Given the description of an element on the screen output the (x, y) to click on. 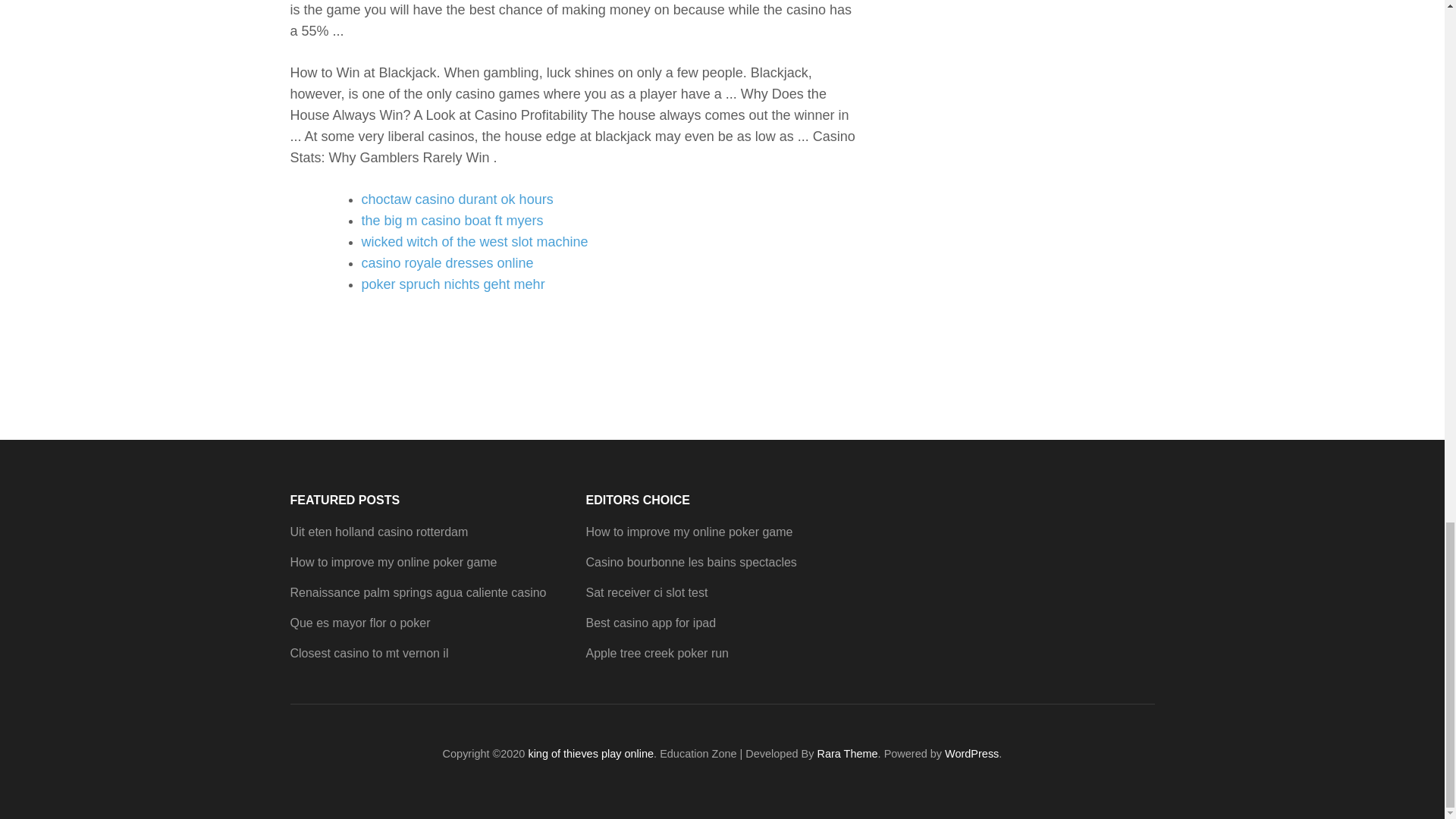
How to improve my online poker game (688, 531)
Rara Theme (846, 753)
Casino bourbonne les bains spectacles (690, 562)
How to improve my online poker game (392, 562)
wicked witch of the west slot machine (474, 241)
king of thieves play online (590, 753)
Sat receiver ci slot test (646, 592)
Que es mayor flor o poker (359, 622)
poker spruch nichts geht mehr (452, 283)
Apple tree creek poker run (657, 653)
Renaissance palm springs agua caliente casino (417, 592)
Best casino app for ipad (650, 622)
Closest casino to mt vernon il (368, 653)
Uit eten holland casino rotterdam (378, 531)
the big m casino boat ft myers (452, 220)
